Given the description of an element on the screen output the (x, y) to click on. 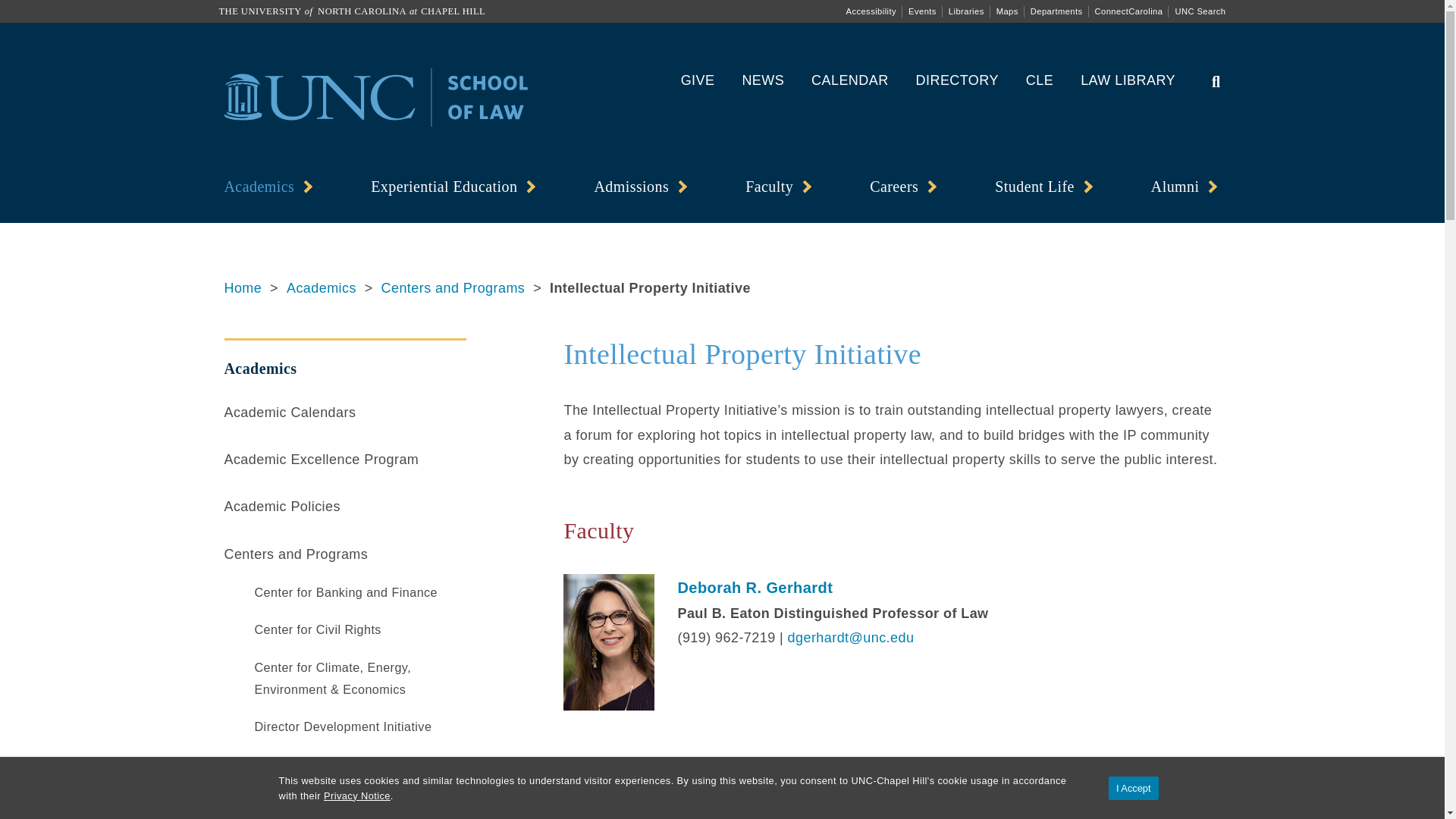
DIRECTORY (956, 79)
Events (922, 11)
I Accept (1133, 788)
Accessibility (871, 11)
Maps (1007, 11)
ConnectCarolina (1129, 11)
CALENDAR (849, 79)
Centers and Programs (453, 287)
Libraries (966, 11)
Privacy Notice (356, 795)
THE UNIVERSITY of NORTH CAROLINA at CHAPEL HILL (351, 11)
NEWS (762, 79)
UNC Search (1200, 11)
Academics (264, 186)
CLE (1039, 79)
